Given the description of an element on the screen output the (x, y) to click on. 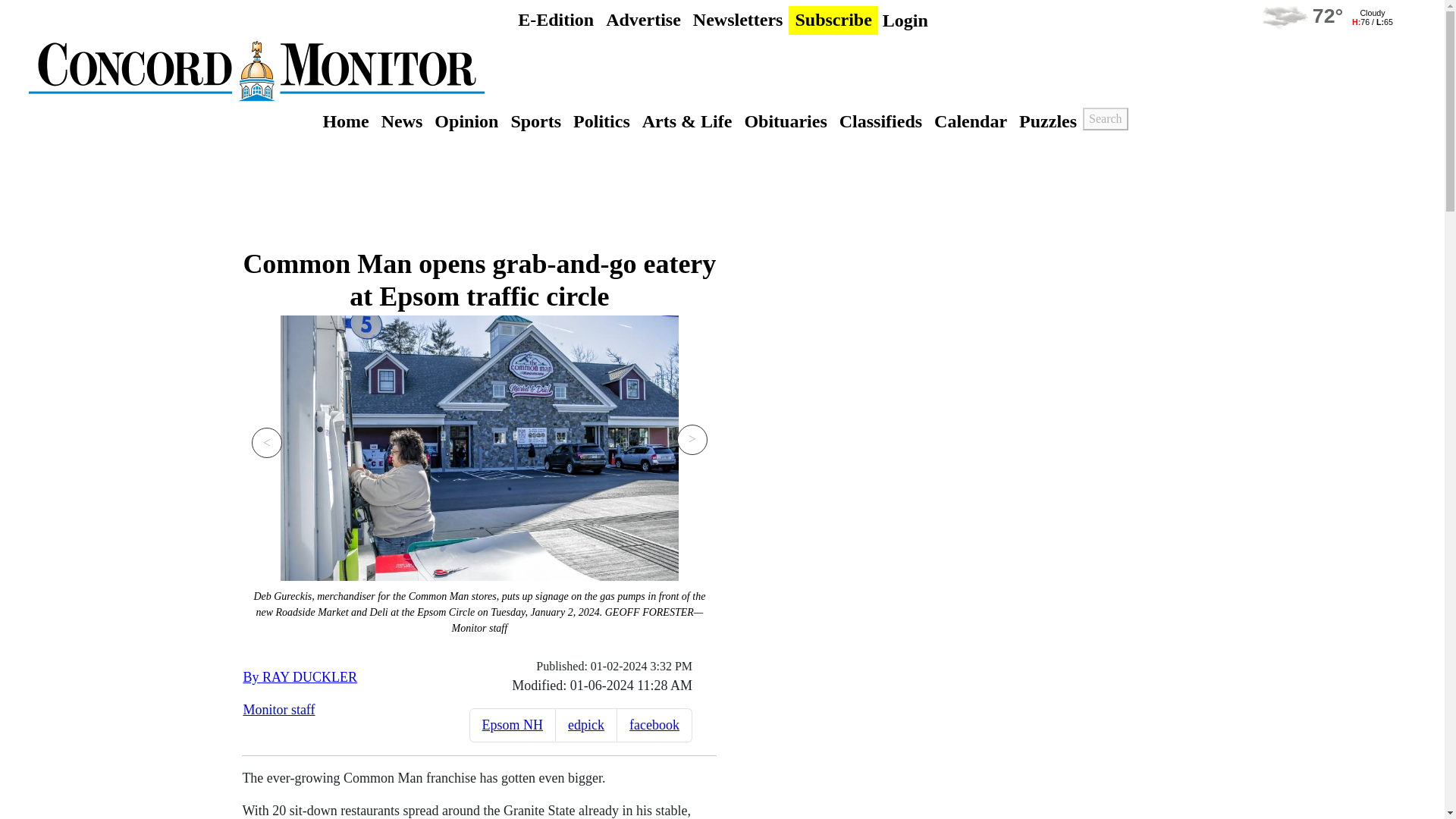
Obituaries (785, 121)
Politics (601, 121)
Search (1105, 118)
Puzzles (1048, 121)
News (402, 121)
Epsom NH (512, 724)
E-Edition (555, 20)
facebook (653, 724)
Classifieds (880, 121)
Subscribe (833, 20)
Monitor staff (278, 709)
Home (344, 121)
Sports (535, 121)
Advertise (643, 20)
edpick (585, 724)
